Given the description of an element on the screen output the (x, y) to click on. 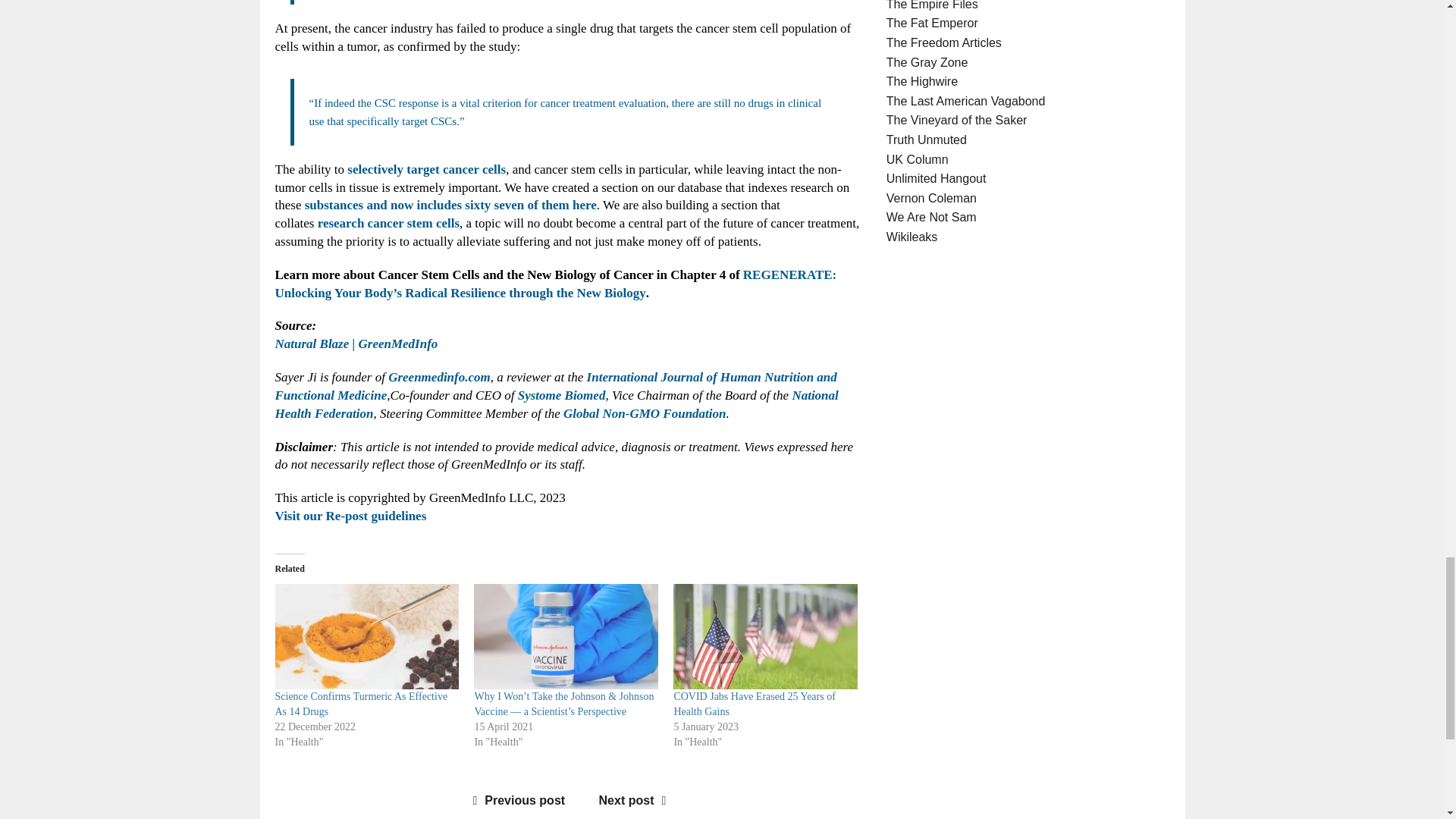
COVID Jabs Have Erased 25 Years of Health Gains (764, 636)
Science Confirms Turmeric As Effective As 14 Drugs (366, 636)
COVID Jabs Have Erased 25 Years of Health Gains (753, 704)
Science Confirms Turmeric As Effective As 14 Drugs (360, 704)
